Given the description of an element on the screen output the (x, y) to click on. 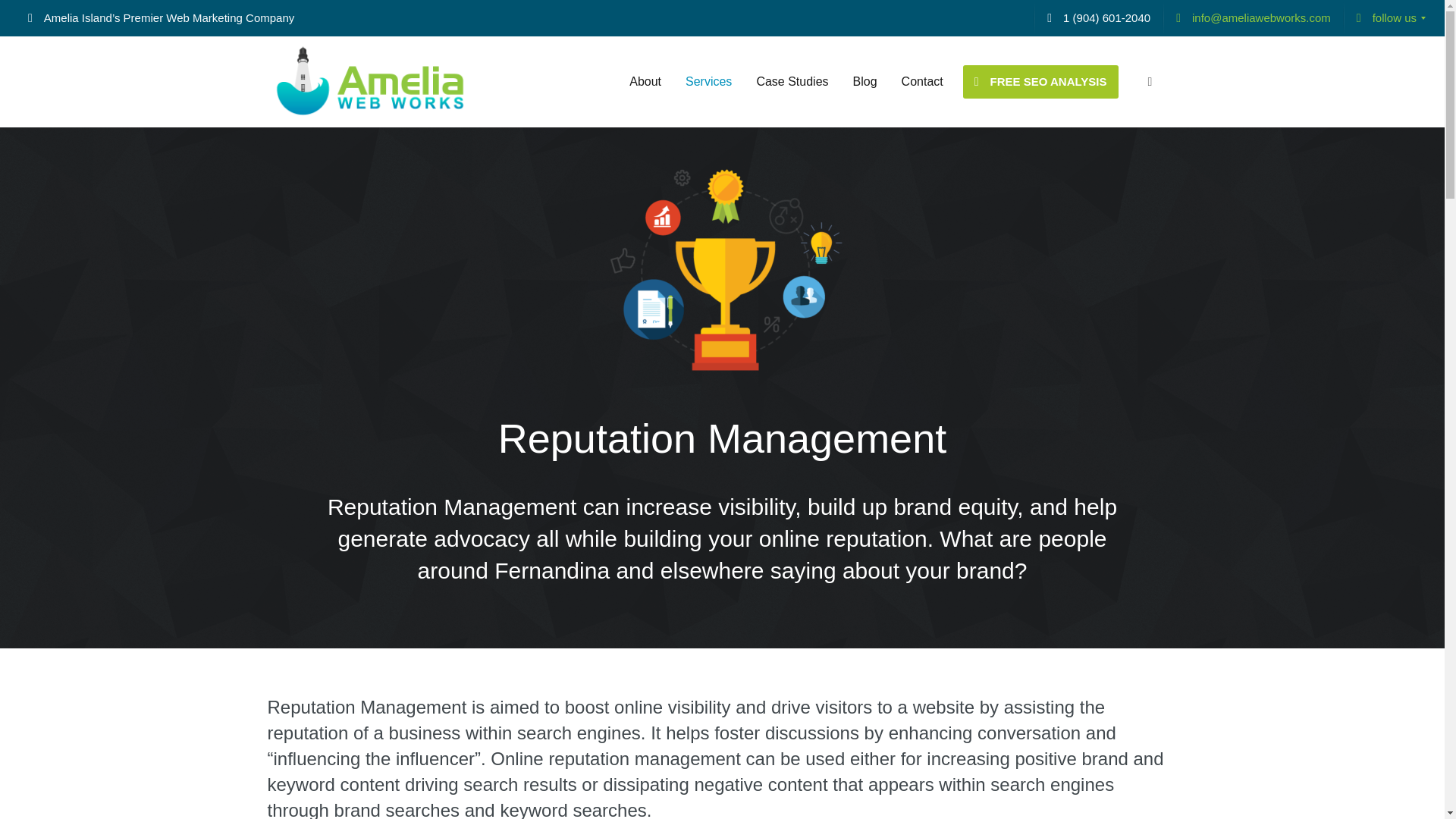
Blog (865, 81)
Case Studies (792, 81)
Amelia Web Works (368, 81)
About (644, 81)
FREE SEO ANALYSIS (1040, 81)
Services (708, 81)
Contact (922, 81)
Reputation Management Services (722, 271)
follow us (1386, 18)
